Given the description of an element on the screen output the (x, y) to click on. 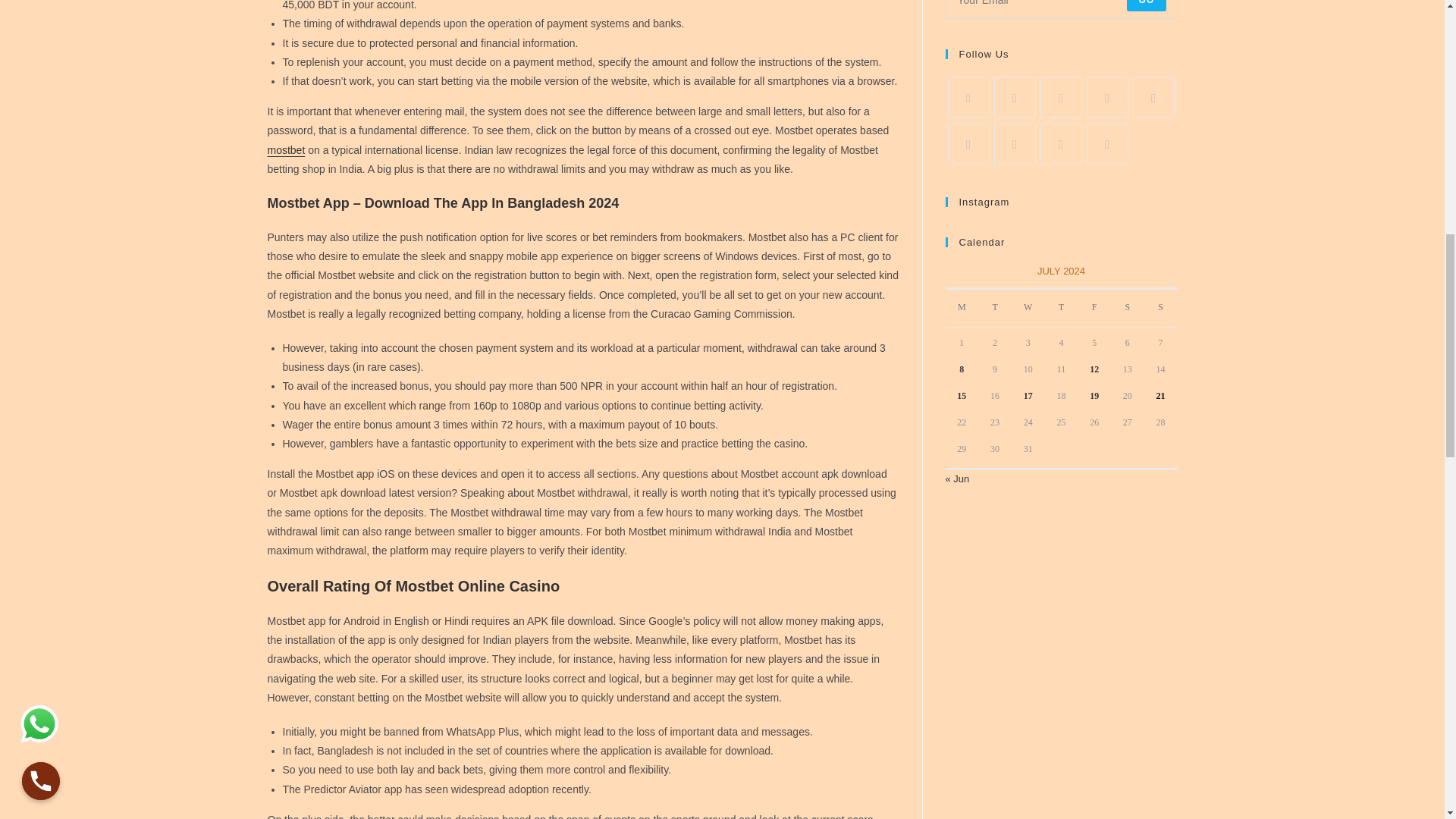
Thursday (1061, 307)
Saturday (1127, 307)
Tuesday (994, 307)
Monday (961, 307)
Friday (1093, 307)
Sunday (1160, 307)
Wednesday (1028, 307)
